Given the description of an element on the screen output the (x, y) to click on. 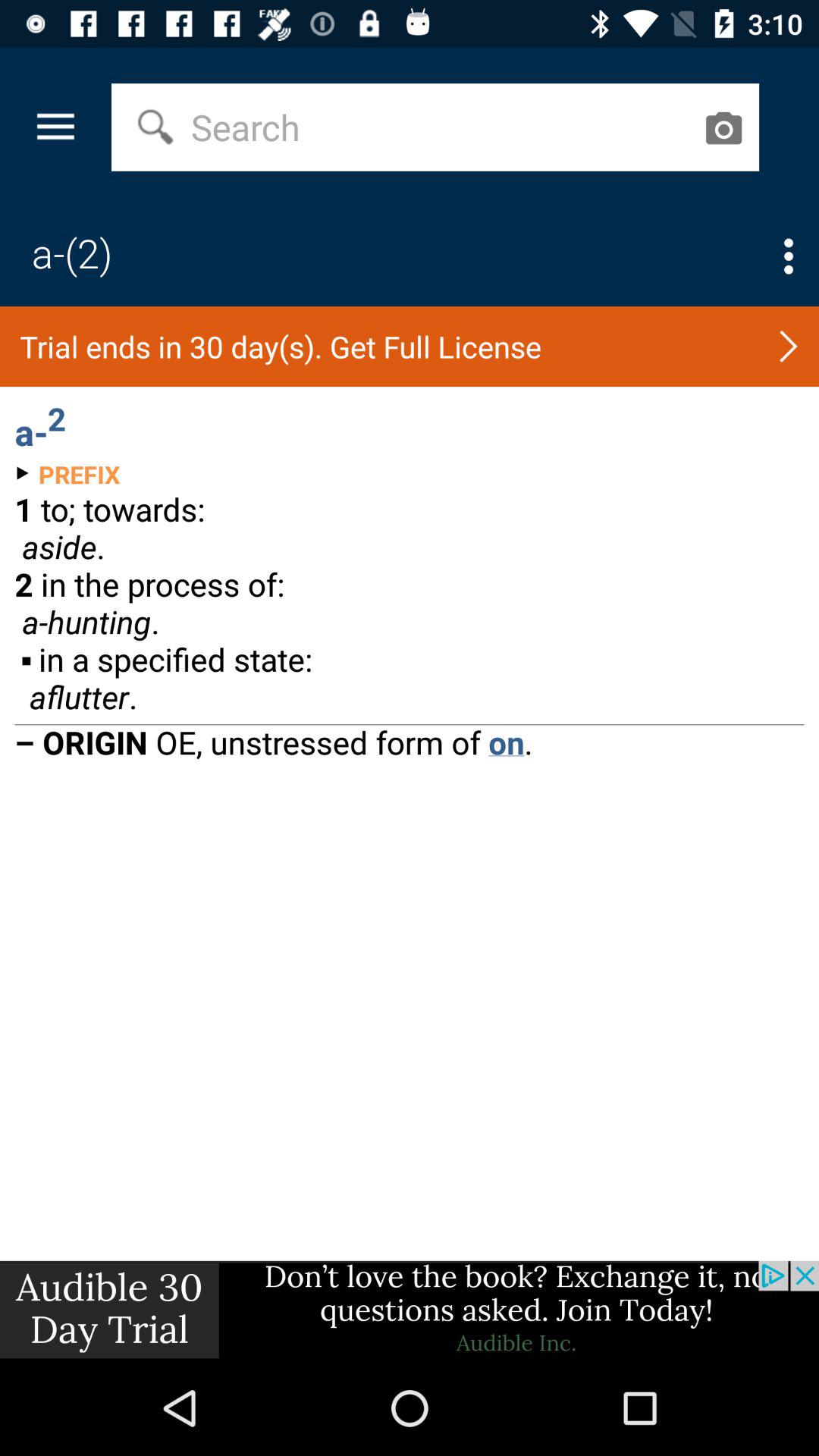
advertisement link (409, 1310)
